Given the description of an element on the screen output the (x, y) to click on. 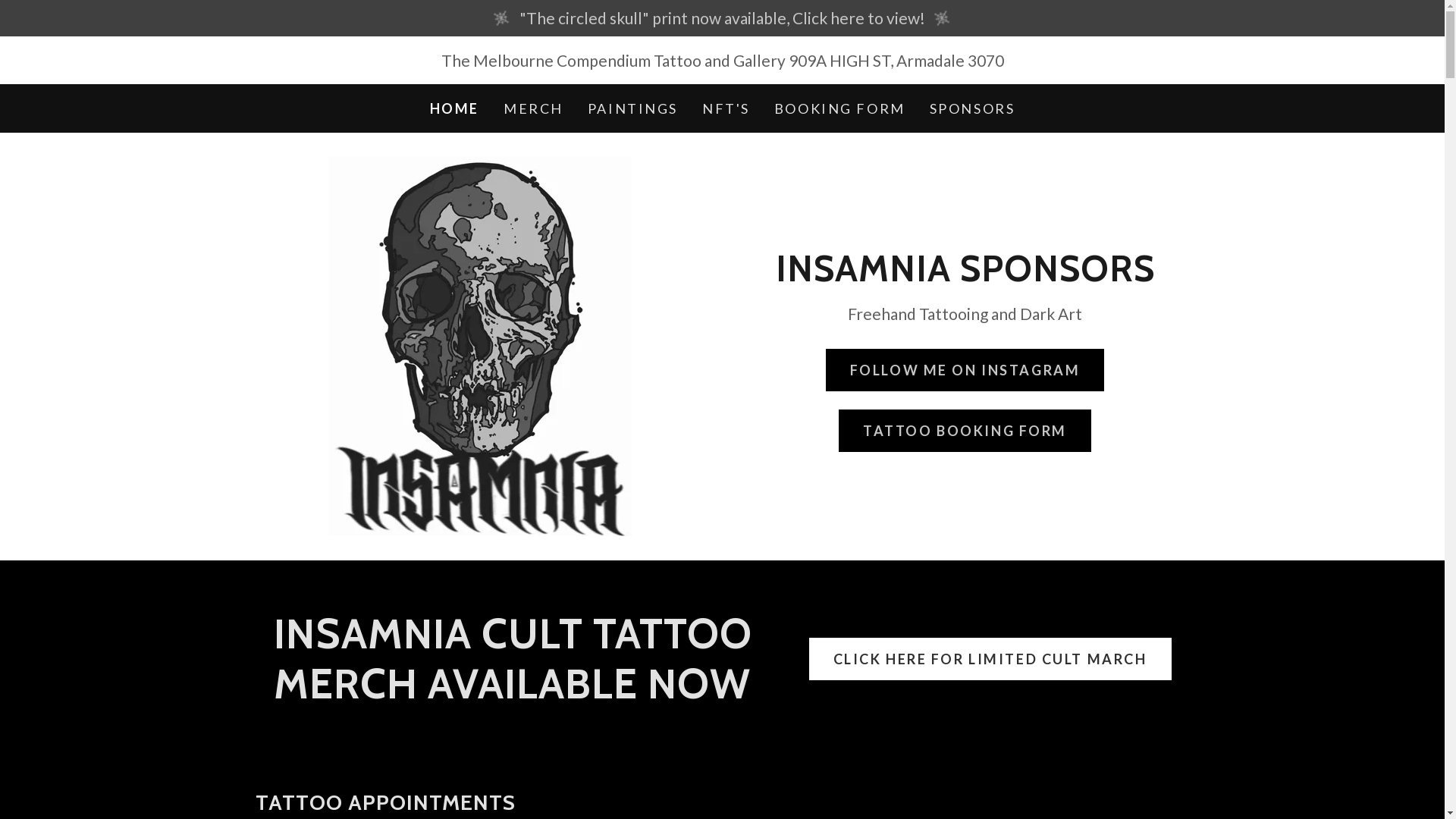
FOLLOW ME ON INSTAGRAM Element type: text (964, 369)
BOOKING FORM Element type: text (839, 108)
HOME Element type: text (454, 108)
CLICK HERE FOR LIMITED CULT MARCH Element type: text (990, 658)
INSAMNIA SPONSORS Element type: text (964, 274)
NFT'S Element type: text (725, 108)
TATTOO BOOKING FORM Element type: text (964, 430)
MERCH Element type: text (532, 108)
PAINTINGS Element type: text (632, 108)
SPONSORS Element type: text (972, 108)
"The circled skull" print now available, Click here to view! Element type: text (722, 18)
